Given the description of an element on the screen output the (x, y) to click on. 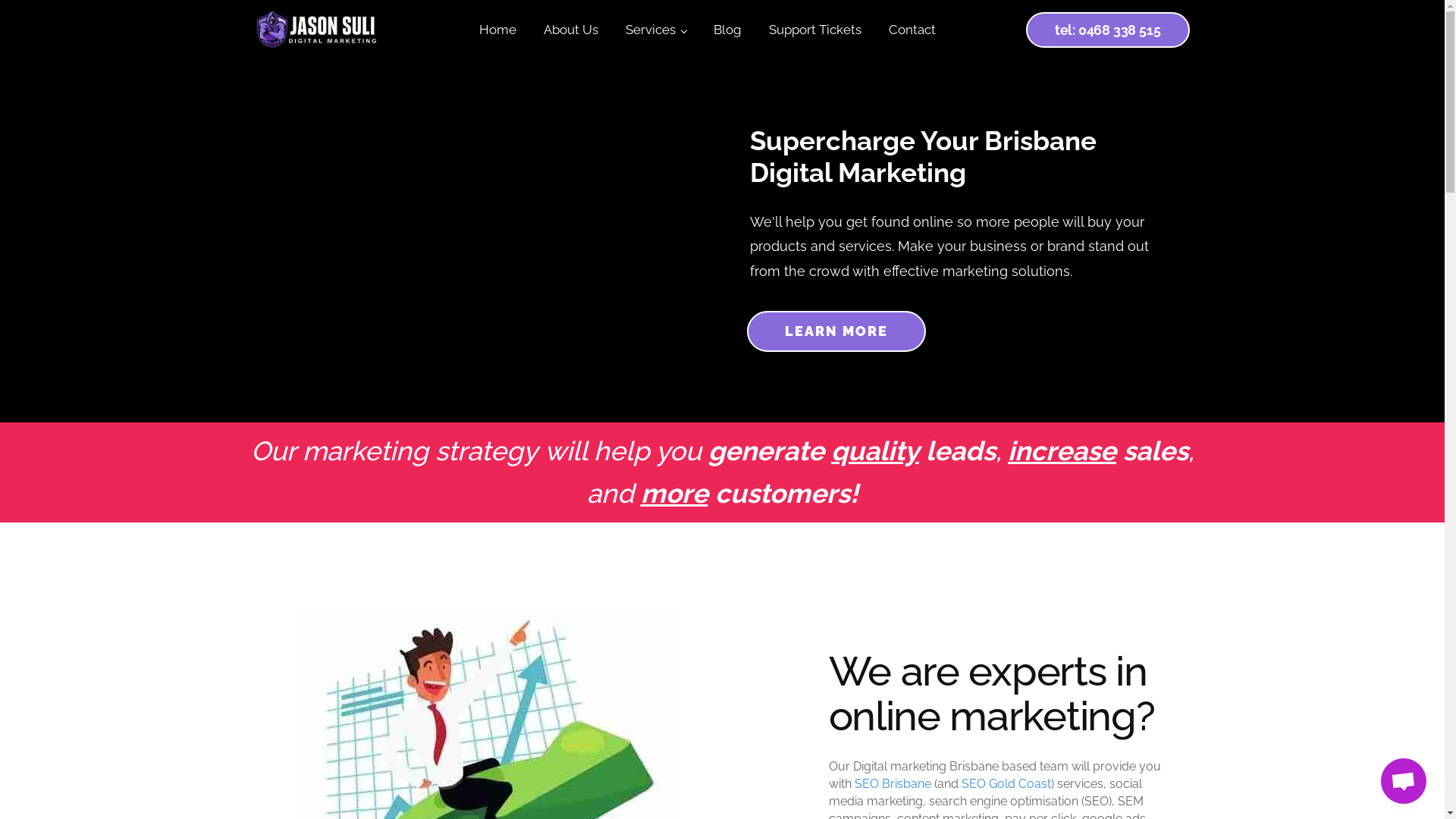
SEO Gold Coast Element type: text (1006, 783)
tel: 0468 338 515 Element type: text (1107, 30)
LEARN MORE Element type: text (835, 330)
Blog Element type: text (727, 29)
Support Tickets Element type: text (815, 29)
Home Element type: text (497, 29)
About Us Element type: text (570, 29)
Contact Element type: text (912, 29)
SEO Brisbane Element type: text (891, 783)
Services Element type: text (655, 29)
